Given the description of an element on the screen output the (x, y) to click on. 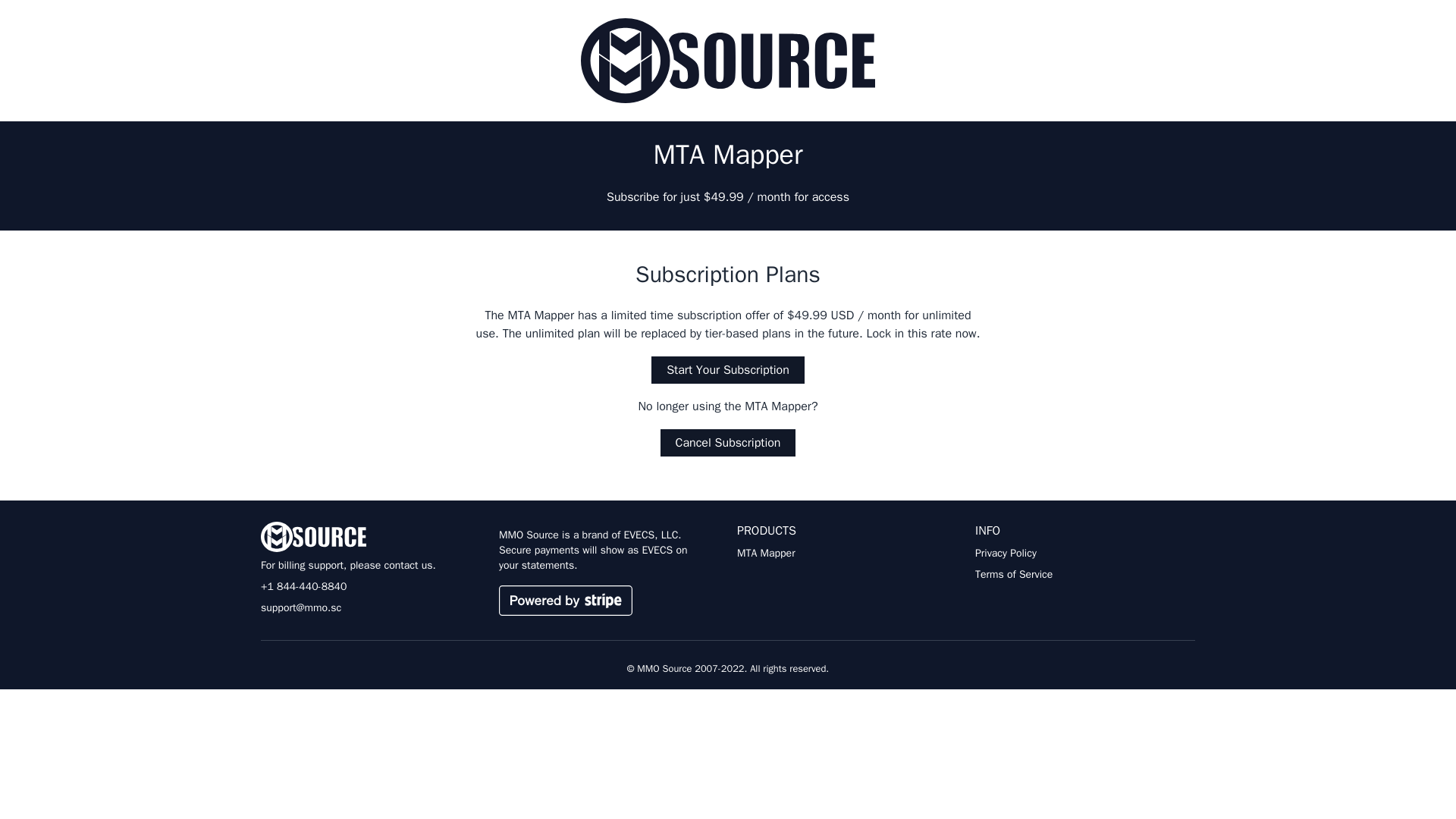
Terms of Service (1085, 574)
Manage Your Subscriptions (596, 600)
MMO Source (727, 60)
Cancel Subscription (728, 442)
Privacy Policy (1085, 553)
Start Your Subscription (727, 370)
MMO Source (370, 536)
MTA Mapper (846, 553)
